Given the description of an element on the screen output the (x, y) to click on. 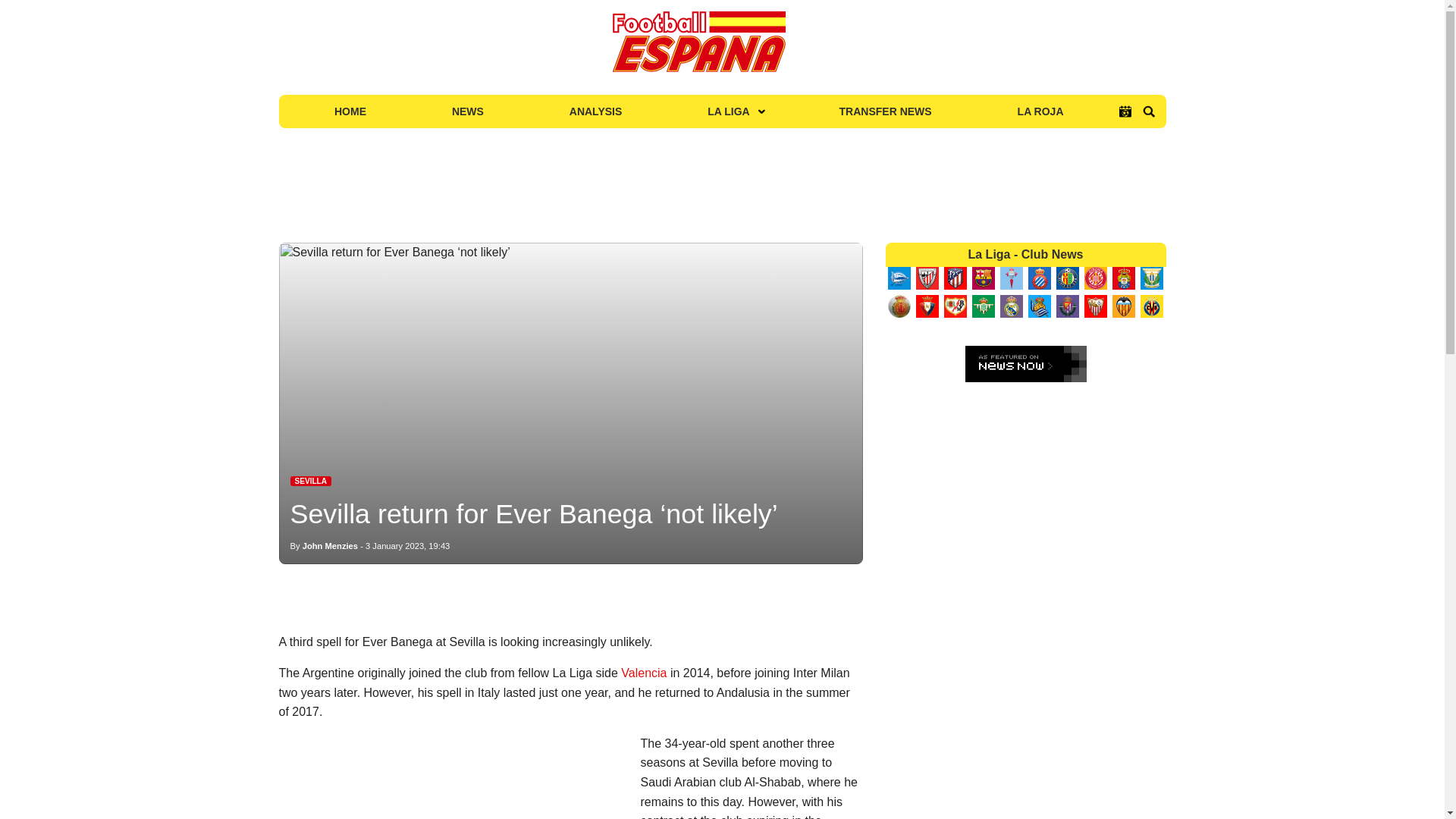
ANALYSIS (595, 111)
Search (1147, 111)
NEWS (468, 111)
Latest Sevilla News (310, 480)
TRANSFER NEWS (885, 111)
La Liga Fixtures (1125, 111)
LA ROJA (1040, 111)
LA LIGA (729, 111)
HOME (350, 111)
